Given the description of an element on the screen output the (x, y) to click on. 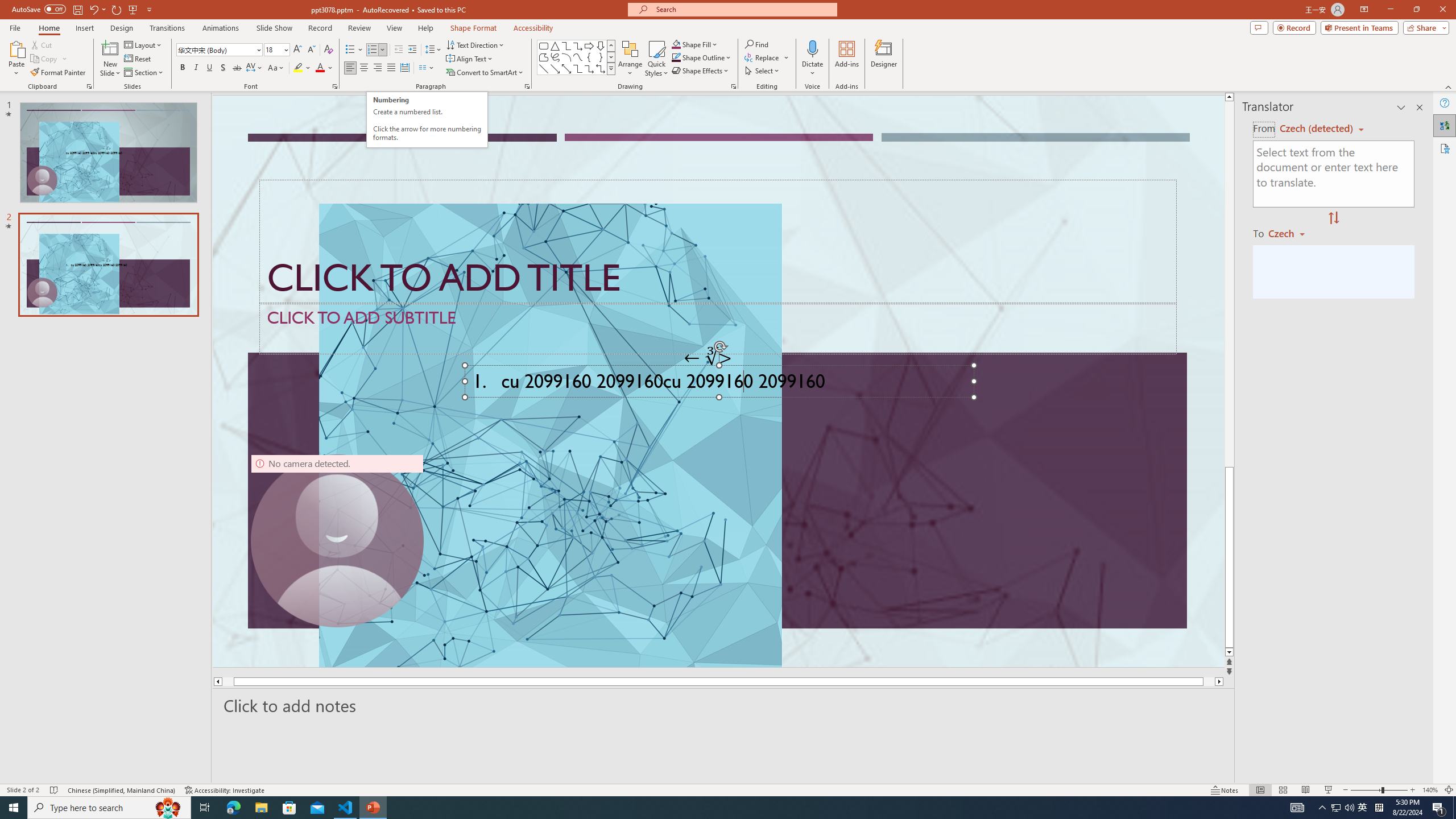
Format Object... (733, 85)
An abstract genetic concept (718, 381)
Center (363, 67)
Change Case (276, 67)
Shape Outline Green, Accent 1 (675, 56)
Isosceles Triangle (554, 45)
Arrow: Down (600, 45)
Decrease Font Size (310, 49)
